Given the description of an element on the screen output the (x, y) to click on. 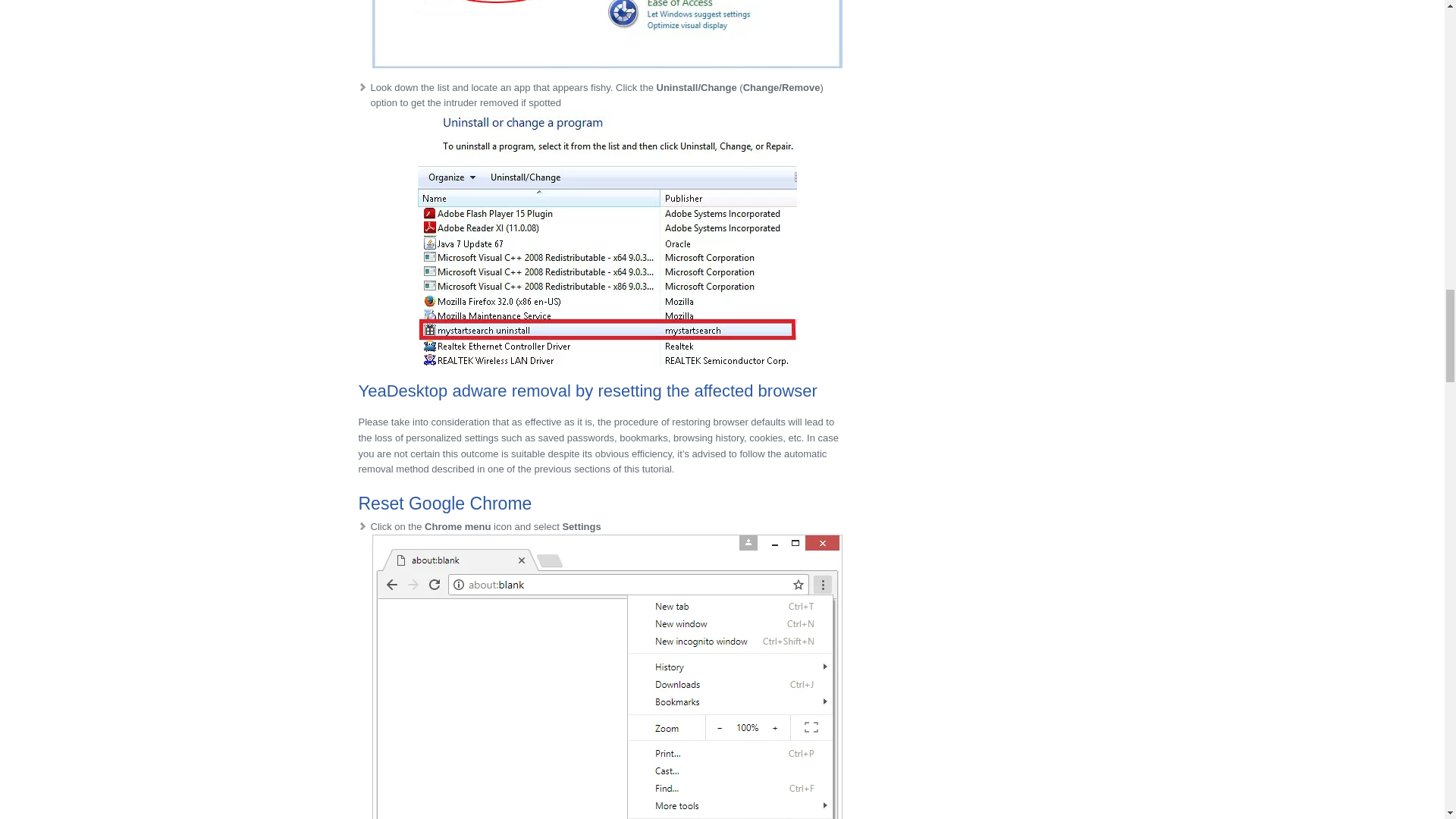
Go to Chrome settings (606, 676)
